Given the description of an element on the screen output the (x, y) to click on. 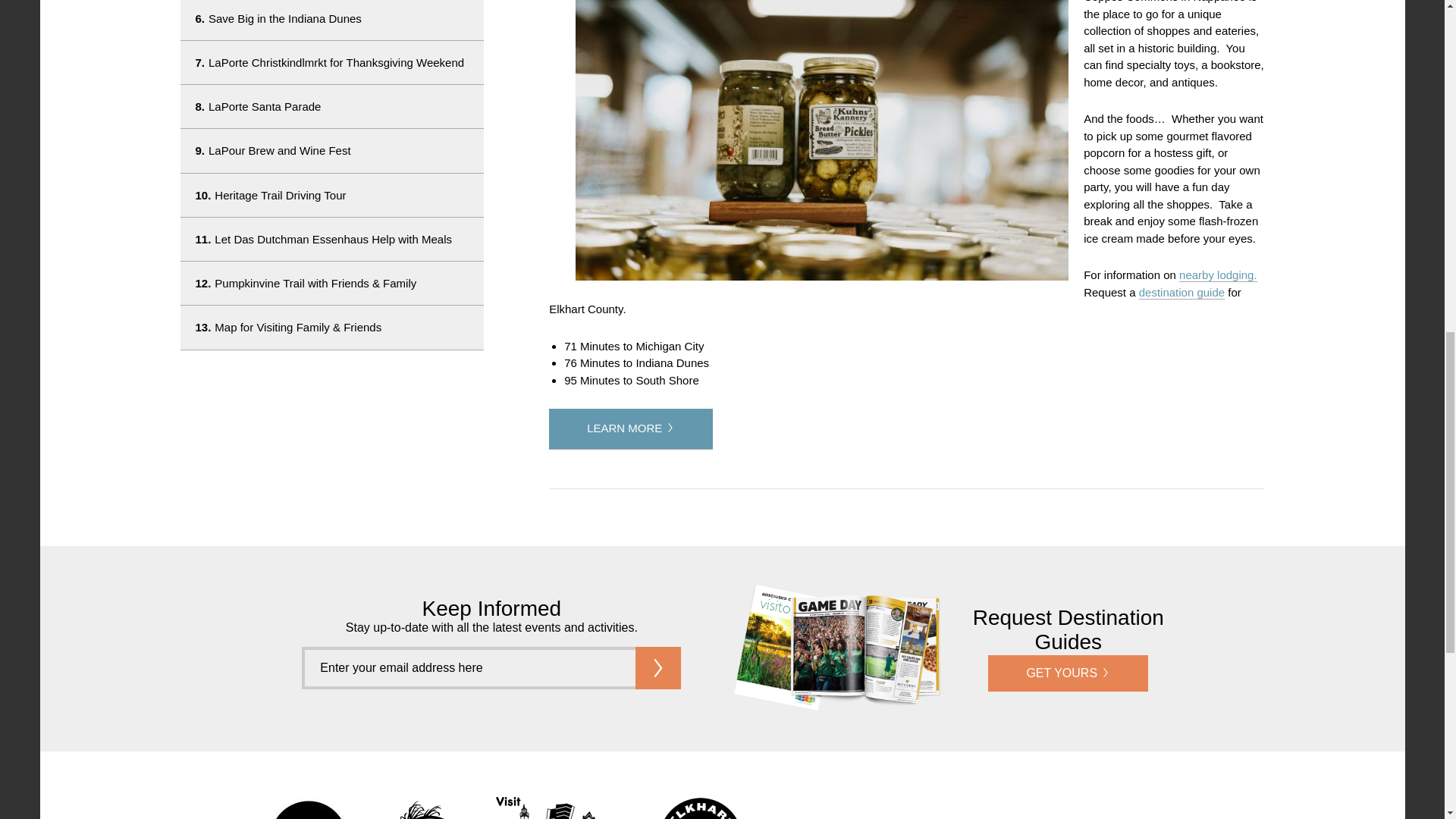
LaPour Brew and Wine Fest (331, 149)
Visit Michigan City LaPorte (559, 807)
Heritage Trail Driving Tour (331, 195)
Let Das Dutchman Essenhaus Help with Meals (331, 239)
LaPorte Santa Parade (331, 106)
Save Big in the Indiana Dunes (331, 20)
Indiana Dunes (423, 807)
Enter your email address here (467, 668)
LaPorte Christkindlmrkt for Thanksgiving Weekend (331, 62)
